Given the description of an element on the screen output the (x, y) to click on. 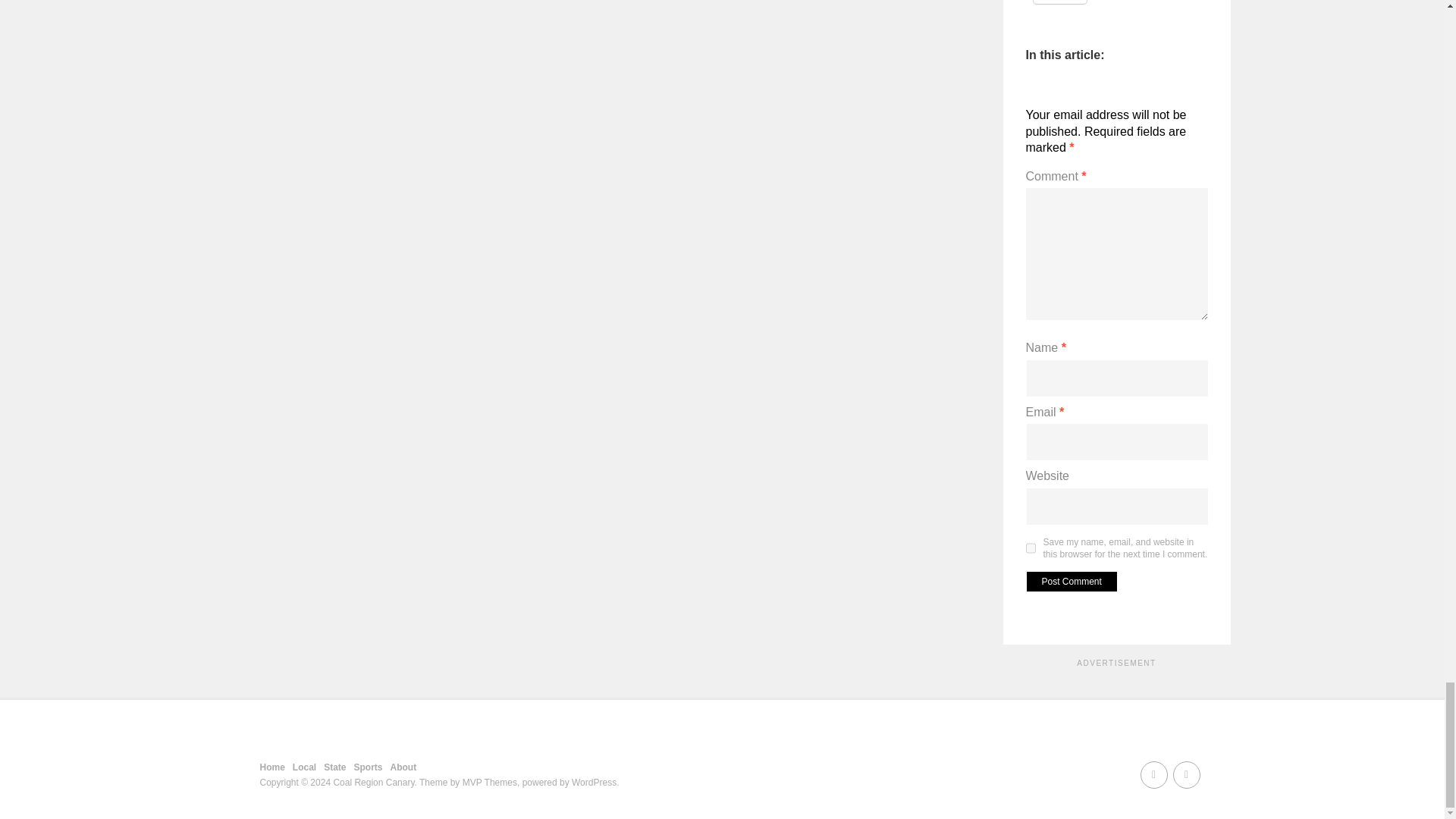
Post Comment (1071, 581)
